Given the description of an element on the screen output the (x, y) to click on. 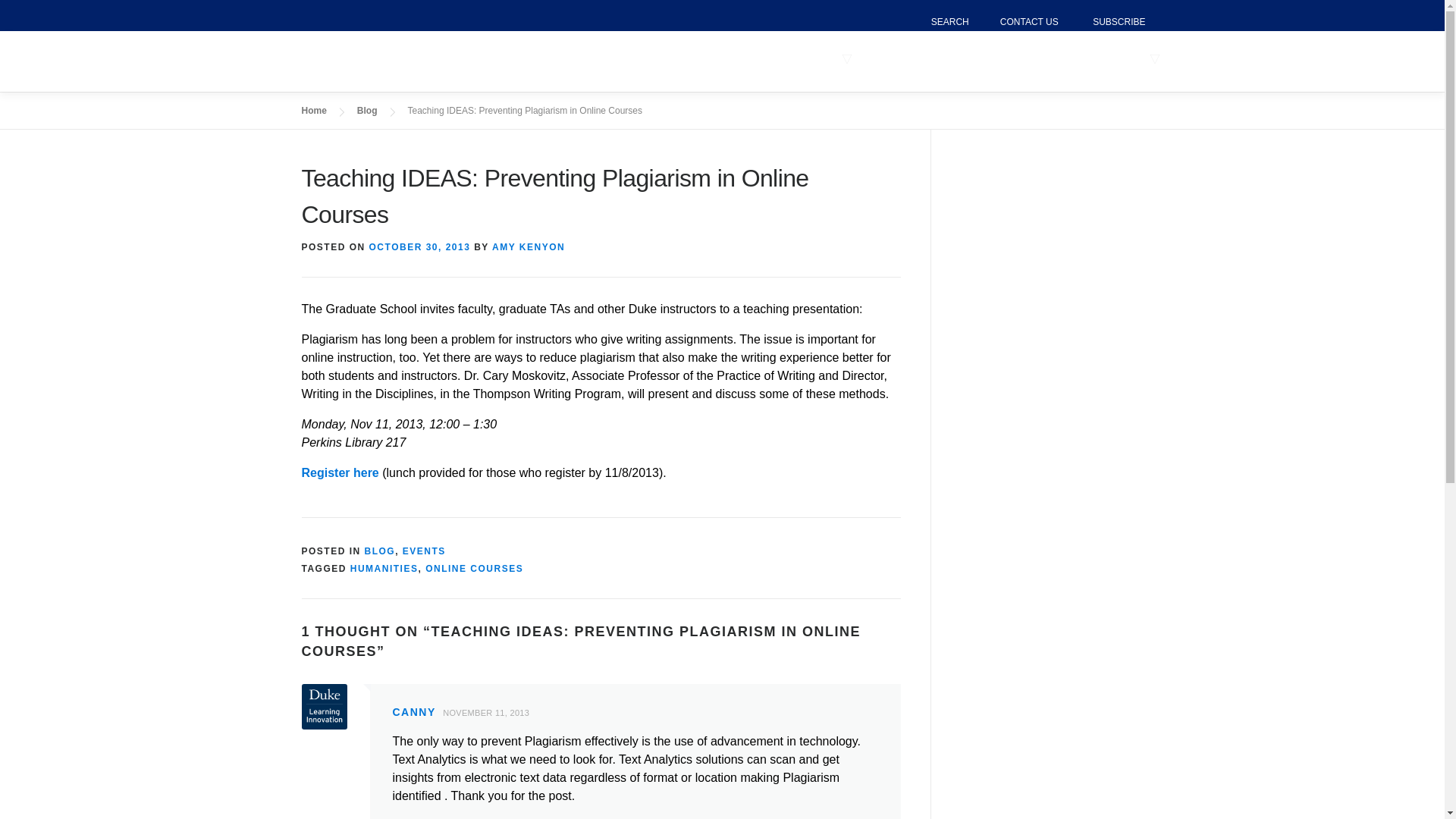
WHAT WE DO (801, 59)
SUBSCRIBE (1112, 21)
Register here (339, 472)
ABOUT US (1107, 59)
ONLINE COURSES (473, 568)
Home (313, 110)
RESOURCES (1023, 59)
HUMANITIES (384, 568)
BLOG (380, 551)
CONTACT US (1022, 21)
CANNY (414, 711)
AMY KENYON (528, 246)
Search (949, 21)
EVENTS (941, 59)
SEARCH (949, 21)
